Given the description of an element on the screen output the (x, y) to click on. 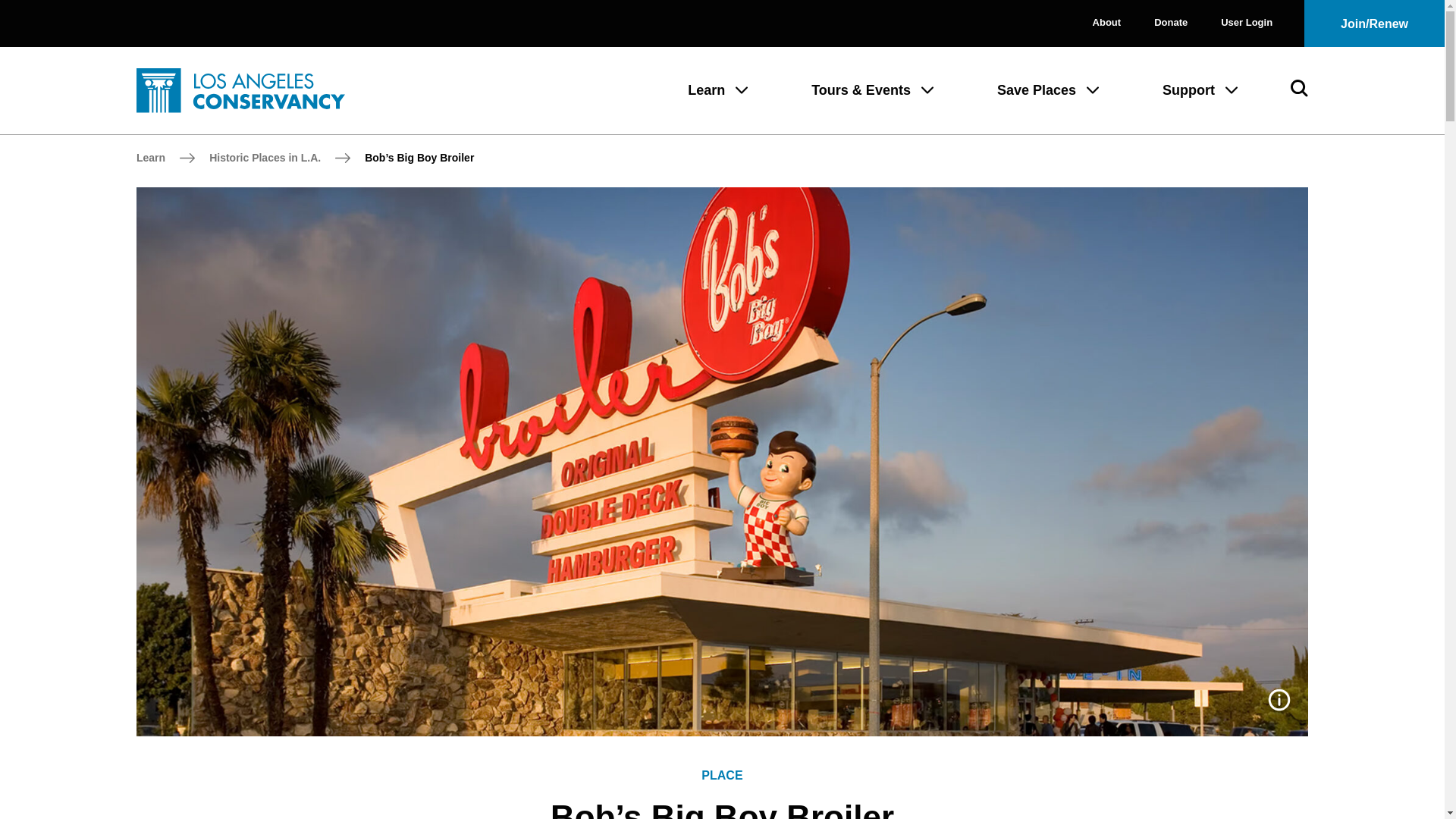
Save Places (1036, 88)
Skip to main content (15, 10)
Learn (706, 88)
Home - Los Angeles Conservancy (240, 90)
Save Places menu (1092, 90)
Learn menu (741, 90)
User Login (1246, 22)
Donate (1171, 22)
About (1107, 22)
